Given the description of an element on the screen output the (x, y) to click on. 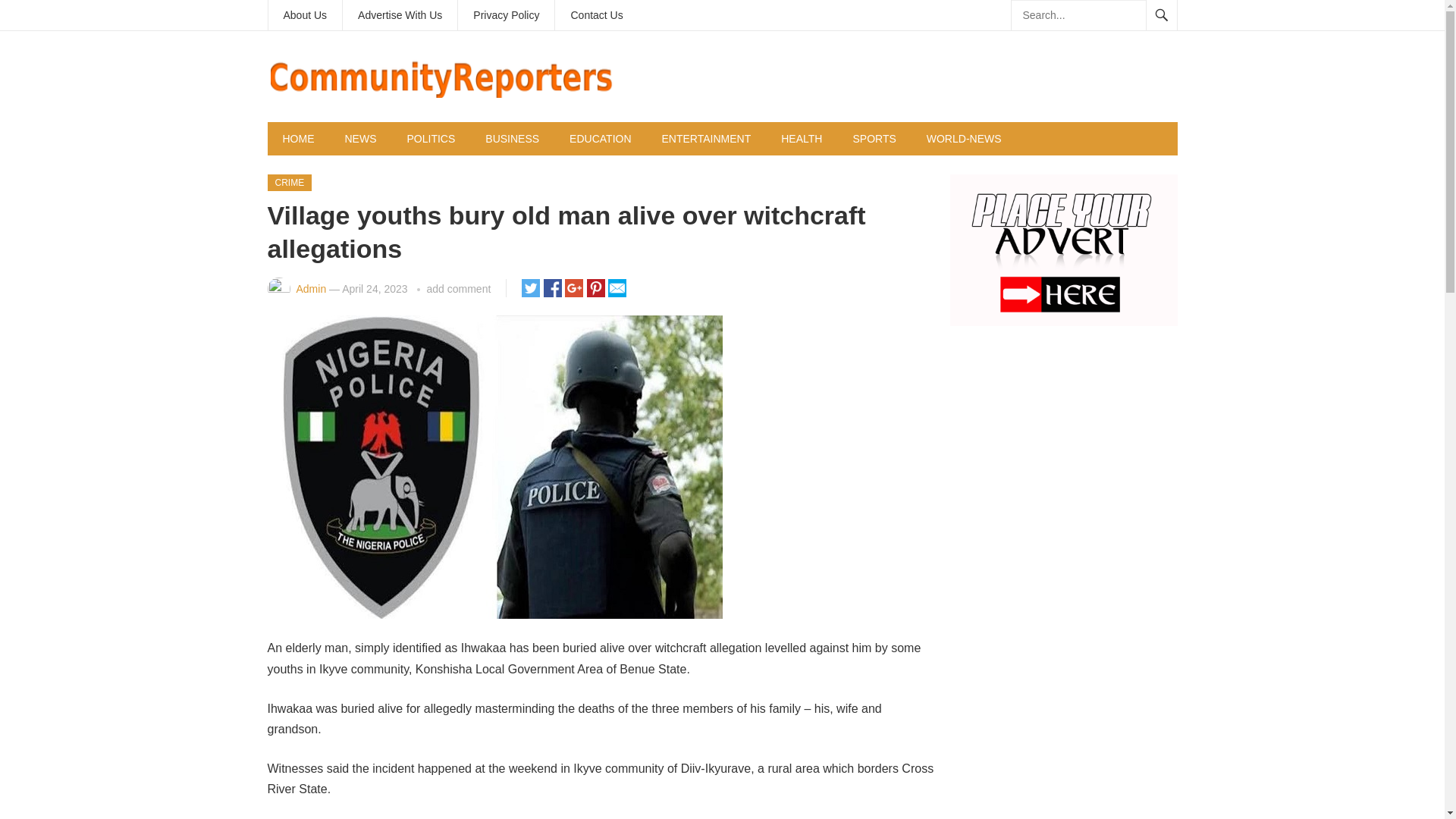
About Us (304, 15)
NEWS (360, 138)
SPORTS (874, 138)
HEALTH (801, 138)
ENTERTAINMENT (706, 138)
BUSINESS (512, 138)
CRIME (288, 182)
View all posts in Crime (288, 182)
Posts by Admin (310, 288)
Contact Us (595, 15)
